Given the description of an element on the screen output the (x, y) to click on. 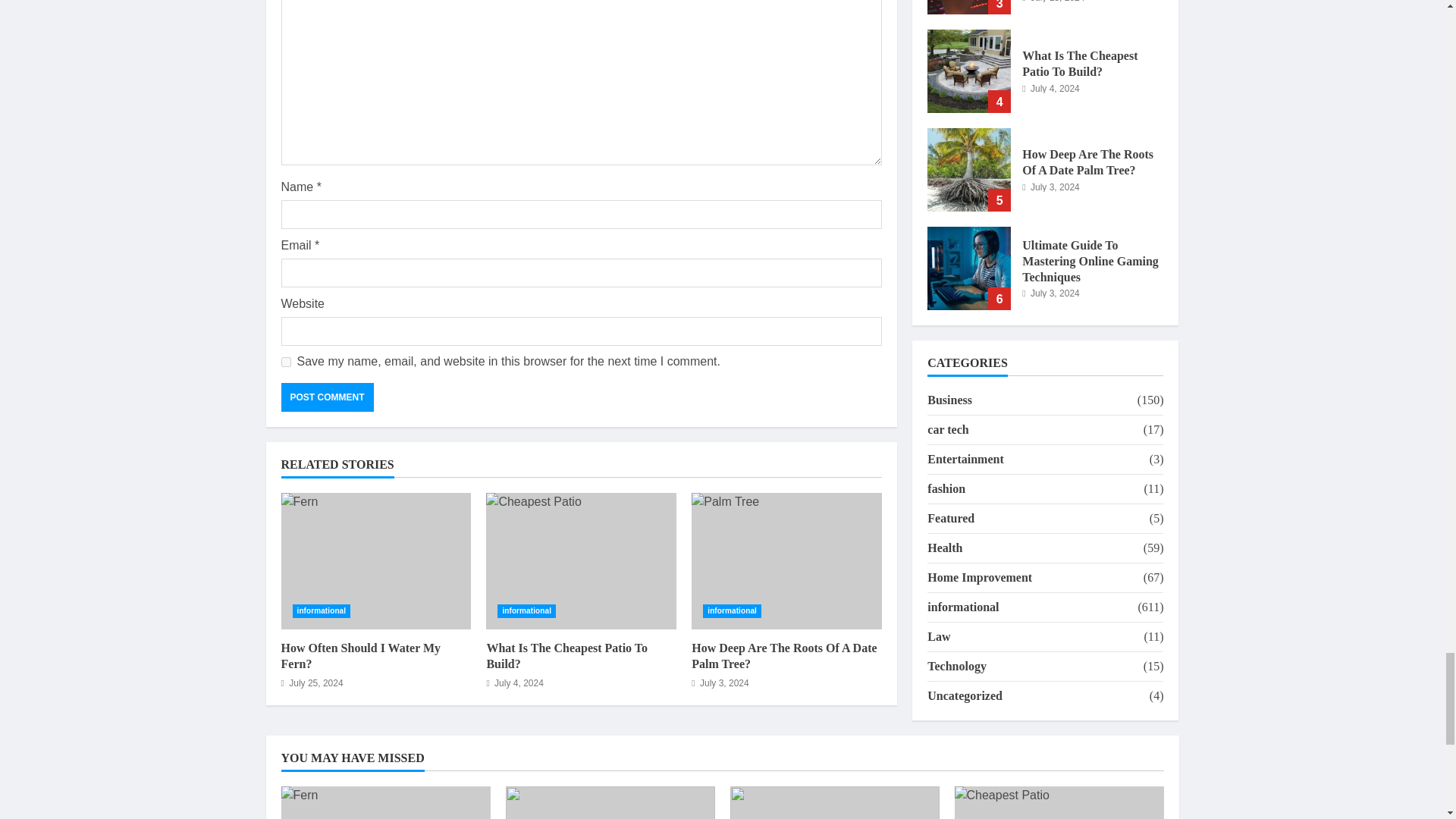
yes (285, 361)
Post Comment (326, 397)
